Given the description of an element on the screen output the (x, y) to click on. 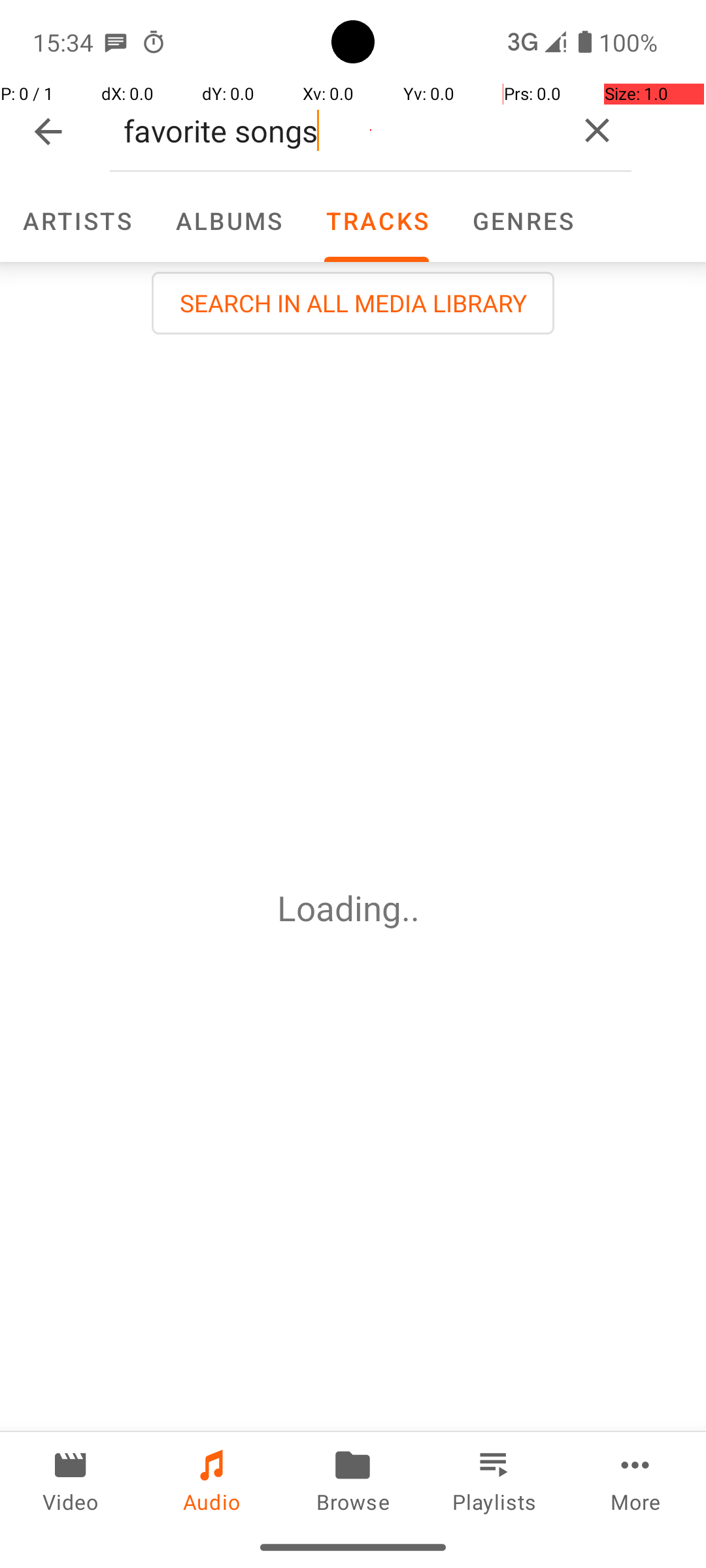
favorite songs Element type: android.widget.AutoCompleteTextView (335, 130)
